Given the description of an element on the screen output the (x, y) to click on. 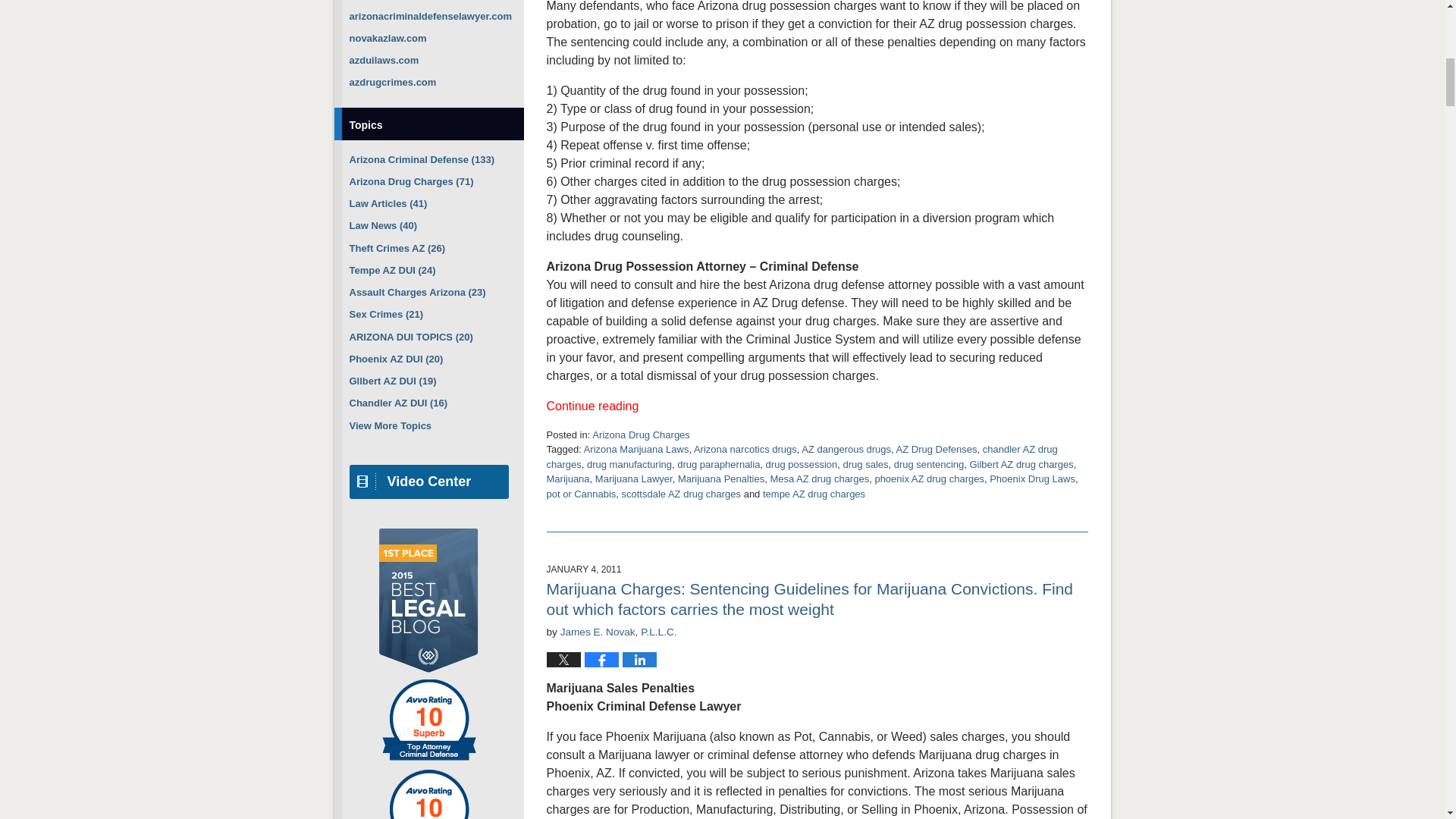
View all posts tagged with drug sentencing (928, 464)
View all posts tagged with drug paraphernalia (718, 464)
View all posts in Arizona Drug Charges (641, 434)
View all posts tagged with Gilbert AZ drug charges (1021, 464)
View all posts tagged with Marijuana (567, 478)
View all posts tagged with AZ Drug Defenses (936, 449)
drug possession (801, 464)
drug manufacturing (628, 464)
View all posts tagged with AZ dangerous drugs (846, 449)
Arizona narcotics drugs (745, 449)
View all posts tagged with drug sales (865, 464)
Continue reading (816, 406)
Arizona Drug Charges (641, 434)
AZ dangerous drugs (846, 449)
View all posts tagged with Arizona narcotics drugs (745, 449)
